Given the description of an element on the screen output the (x, y) to click on. 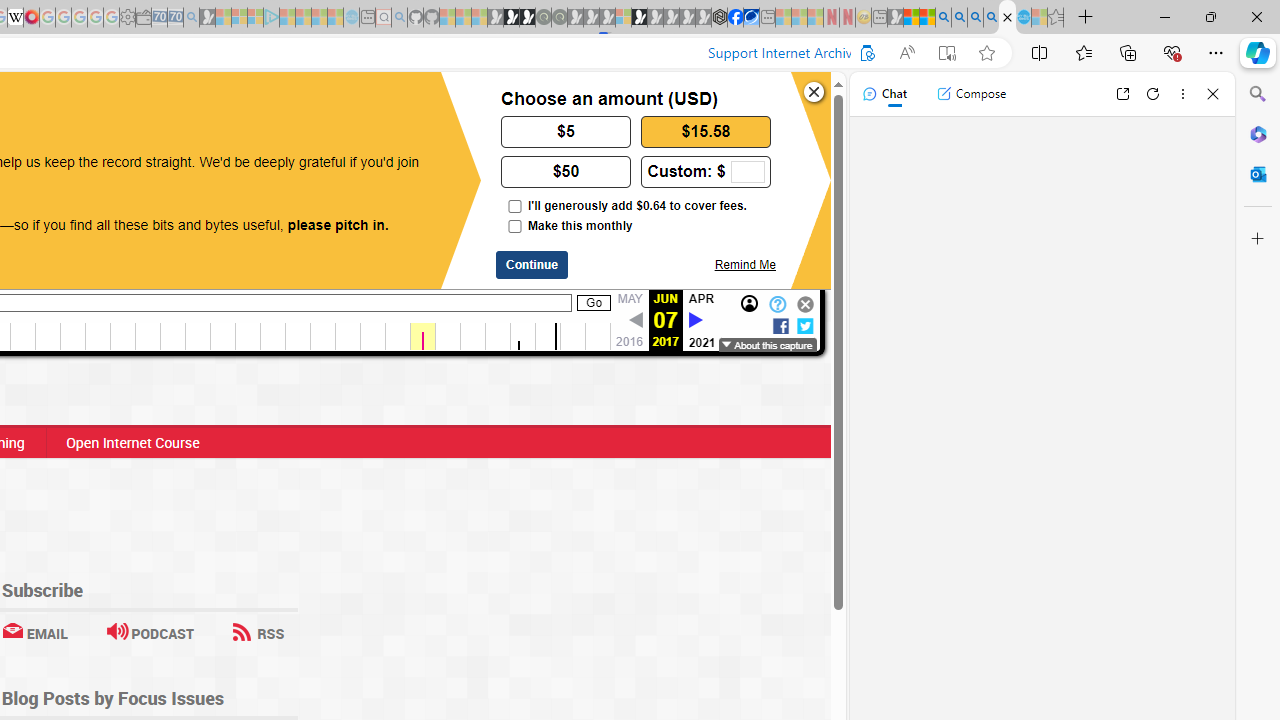
EMAIL (34, 632)
Google Chrome Internet Browser Download - Search Images (991, 17)
github - Search - Sleeping (399, 17)
f (780, 324)
2009 Bing officially replaced Live Search on June 3 - Search (959, 17)
